Given the description of an element on the screen output the (x, y) to click on. 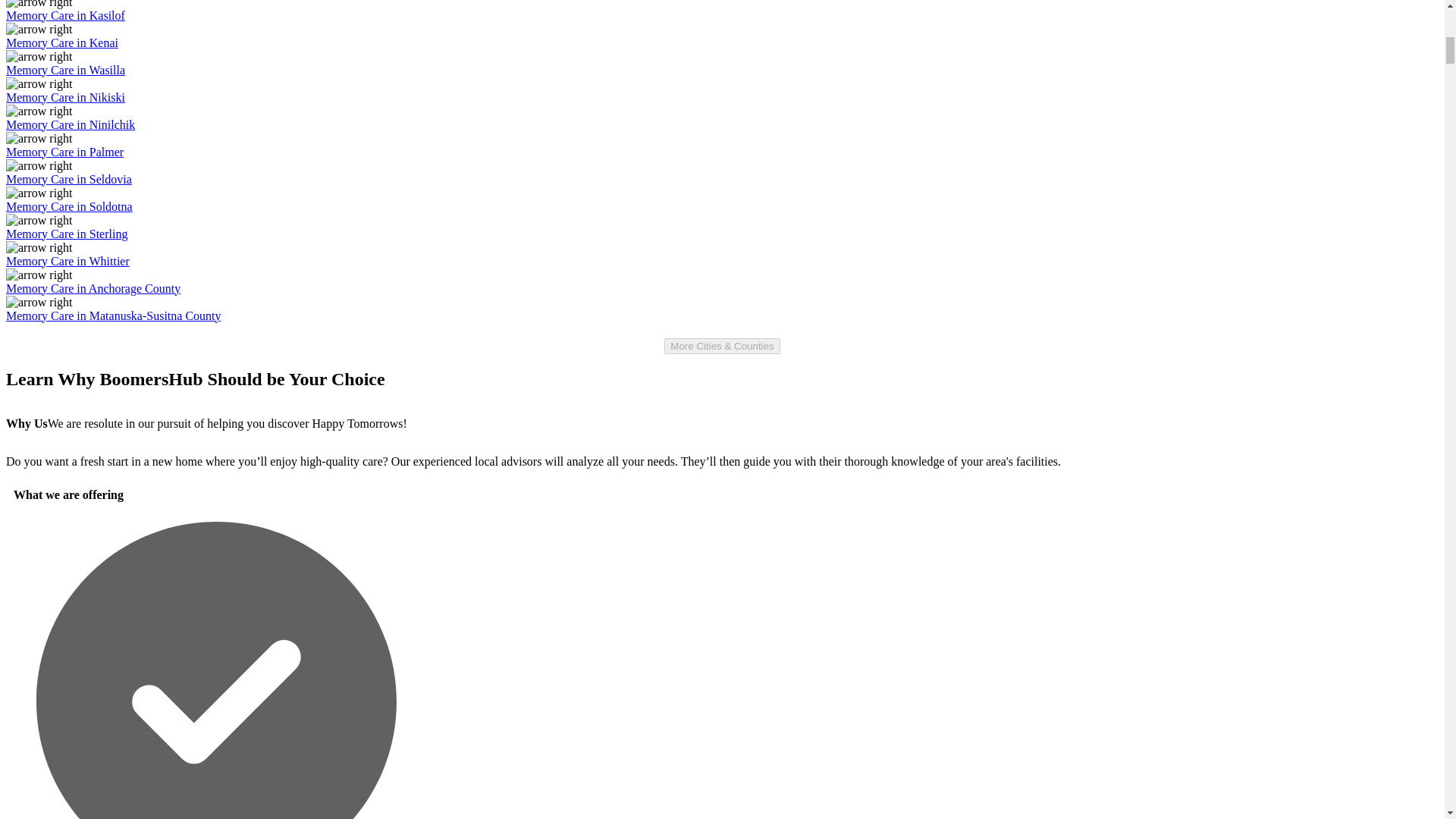
Memory Care in Wasilla (65, 69)
Memory Care in Palmer (64, 151)
Memory Care in Whittier (67, 260)
Memory Care in Ninilchik (70, 124)
Memory Care in Nikiski (65, 97)
Memory Care in Kasilof (65, 15)
Memory Care in Sterling (66, 233)
Memory Care in Matanuska-Susitna County (113, 315)
Memory Care in Soldotna (68, 205)
Memory Care in Kenai (61, 42)
